Given the description of an element on the screen output the (x, y) to click on. 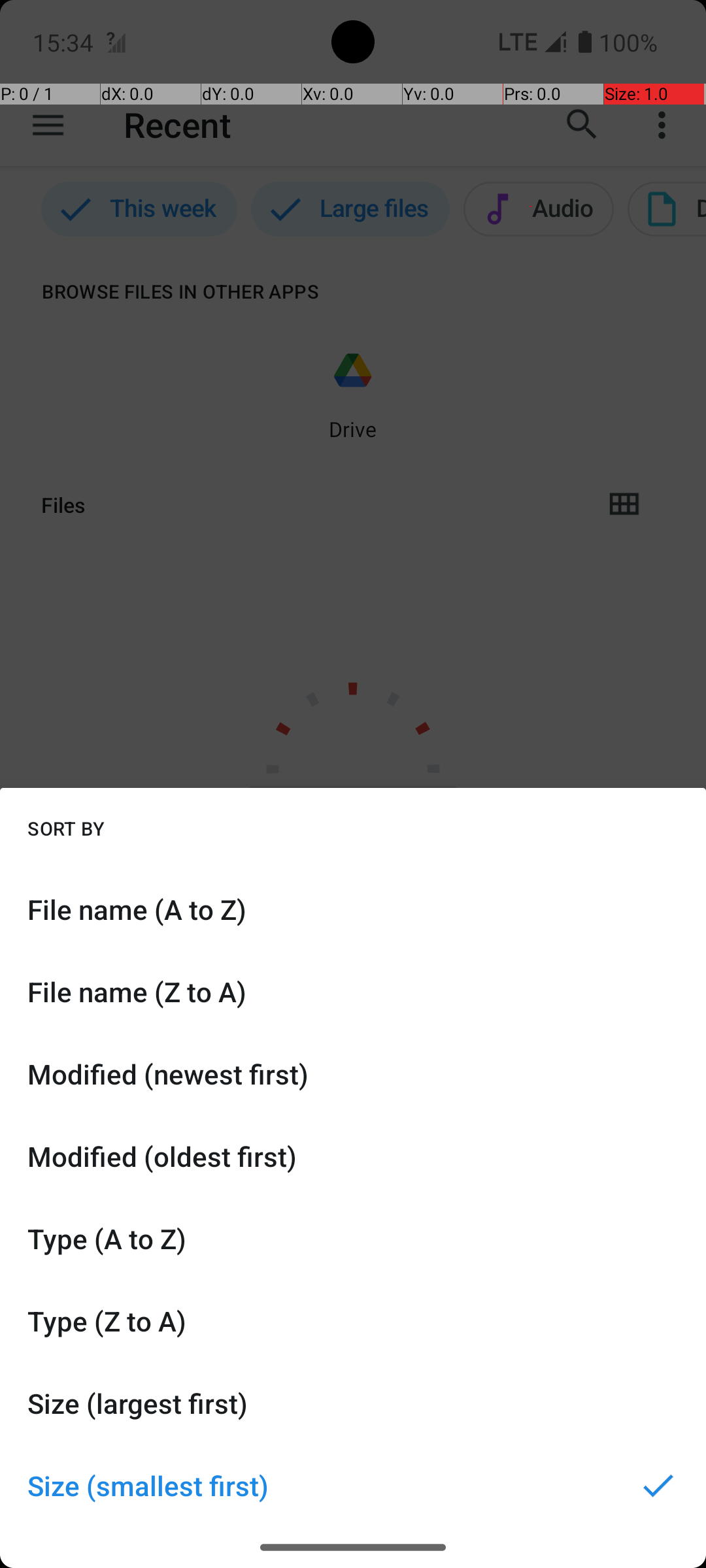
SORT BY Element type: android.widget.TextView (66, 827)
File name (A to Z) Element type: android.widget.CheckedTextView (353, 909)
File name (Z to A) Element type: android.widget.CheckedTextView (353, 991)
Modified (newest first) Element type: android.widget.CheckedTextView (353, 1073)
Modified (oldest first) Element type: android.widget.CheckedTextView (353, 1156)
Type (A to Z) Element type: android.widget.CheckedTextView (353, 1238)
Type (Z to A) Element type: android.widget.CheckedTextView (353, 1320)
Size (largest first) Element type: android.widget.CheckedTextView (353, 1403)
Size (smallest first) Element type: android.widget.CheckedTextView (353, 1485)
